Given the description of an element on the screen output the (x, y) to click on. 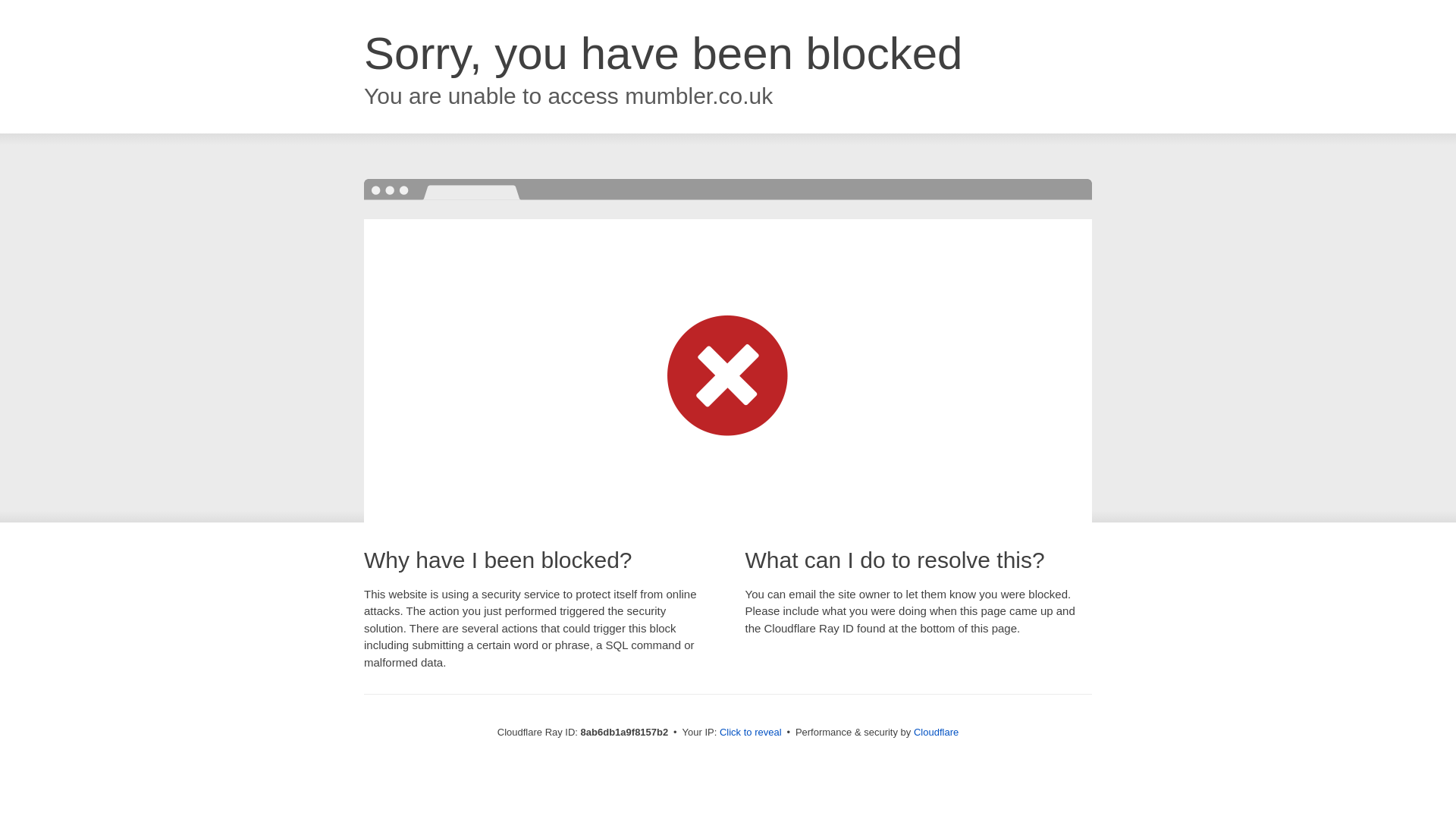
Cloudflare (936, 731)
Click to reveal (750, 732)
